Given the description of an element on the screen output the (x, y) to click on. 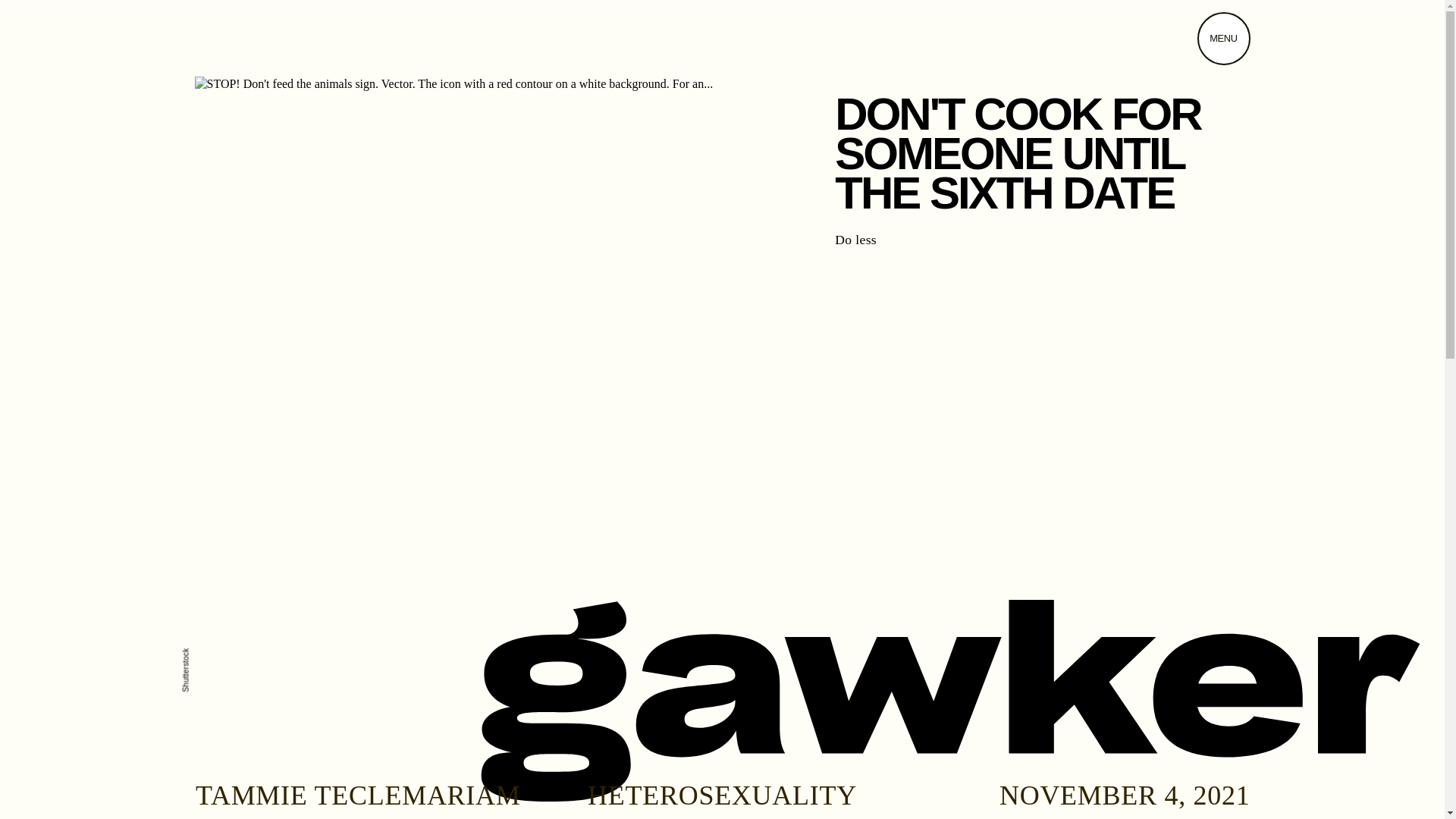
TAMMIE TECLEMARIAM (357, 795)
